Given the description of an element on the screen output the (x, y) to click on. 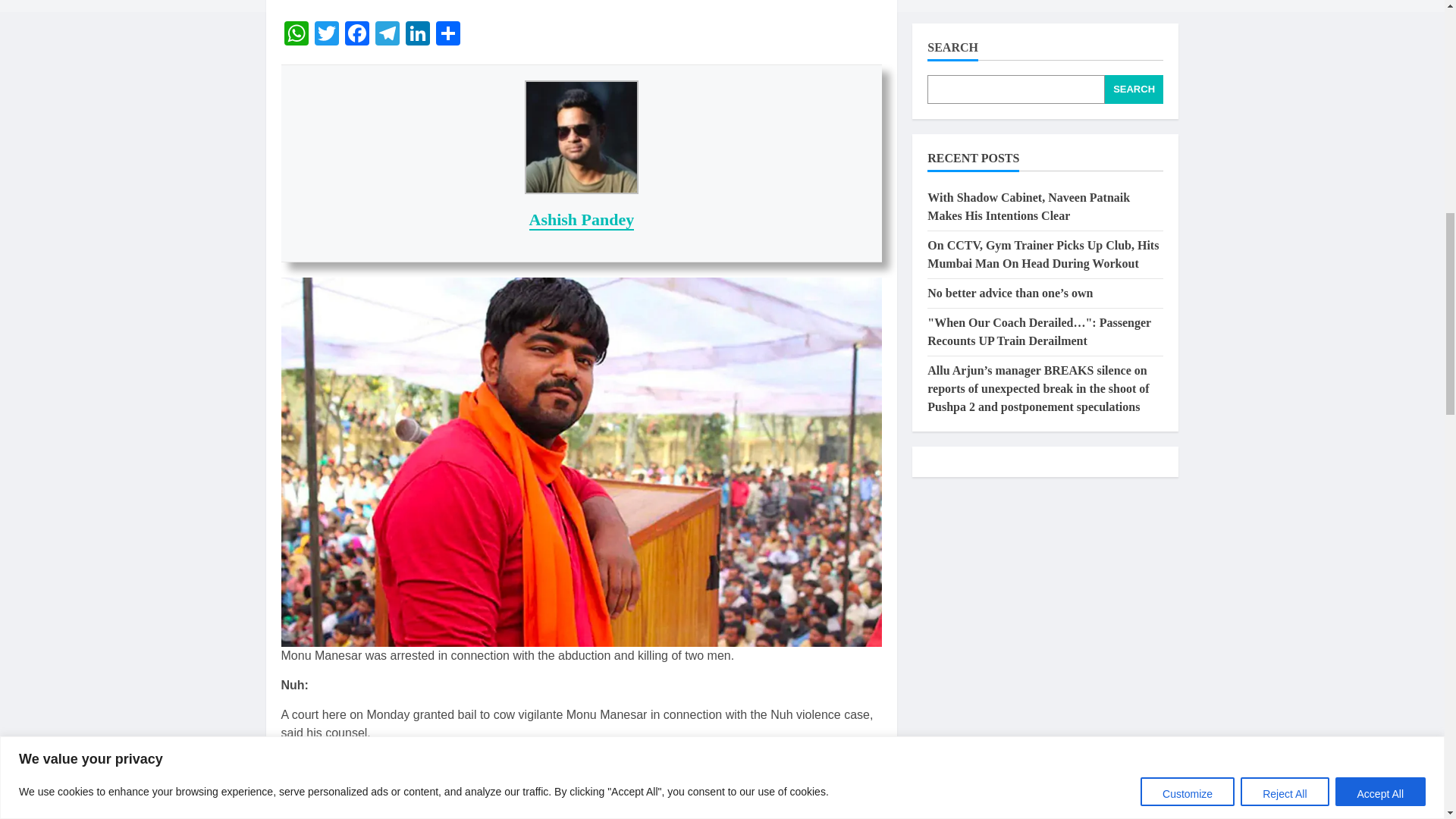
Facebook (355, 35)
Twitter (325, 35)
WhatsApp (296, 35)
LinkedIn (416, 35)
Telegram (386, 35)
